Given the description of an element on the screen output the (x, y) to click on. 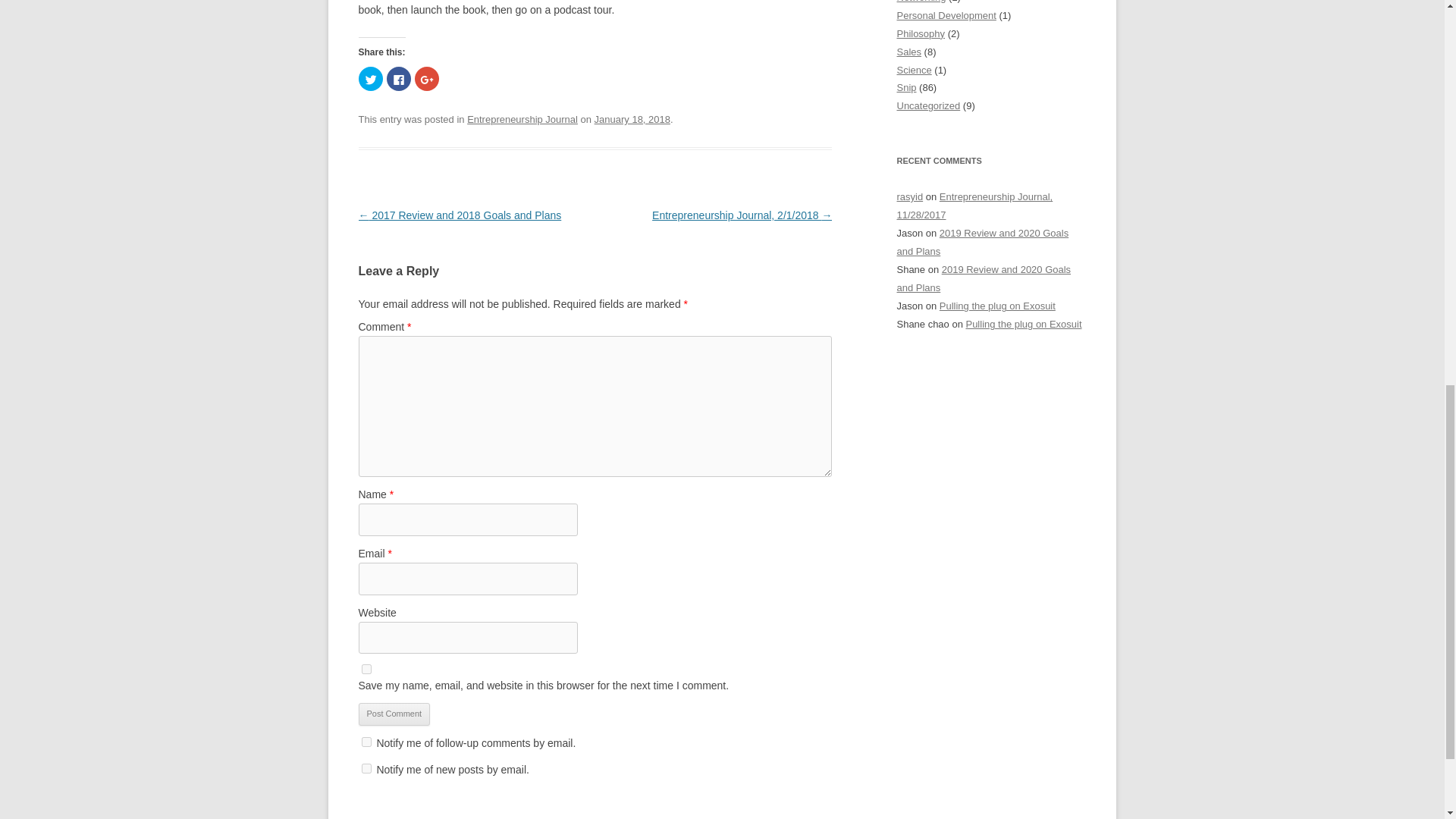
Entrepreneurship Journal (522, 119)
Personal Development (945, 15)
Post Comment (393, 713)
yes (366, 669)
Post Comment (393, 713)
subscribe (366, 741)
Click to share on Twitter (369, 78)
Networking (920, 1)
January 18, 2018 (631, 119)
Click to share on Facebook (398, 78)
